Given the description of an element on the screen output the (x, y) to click on. 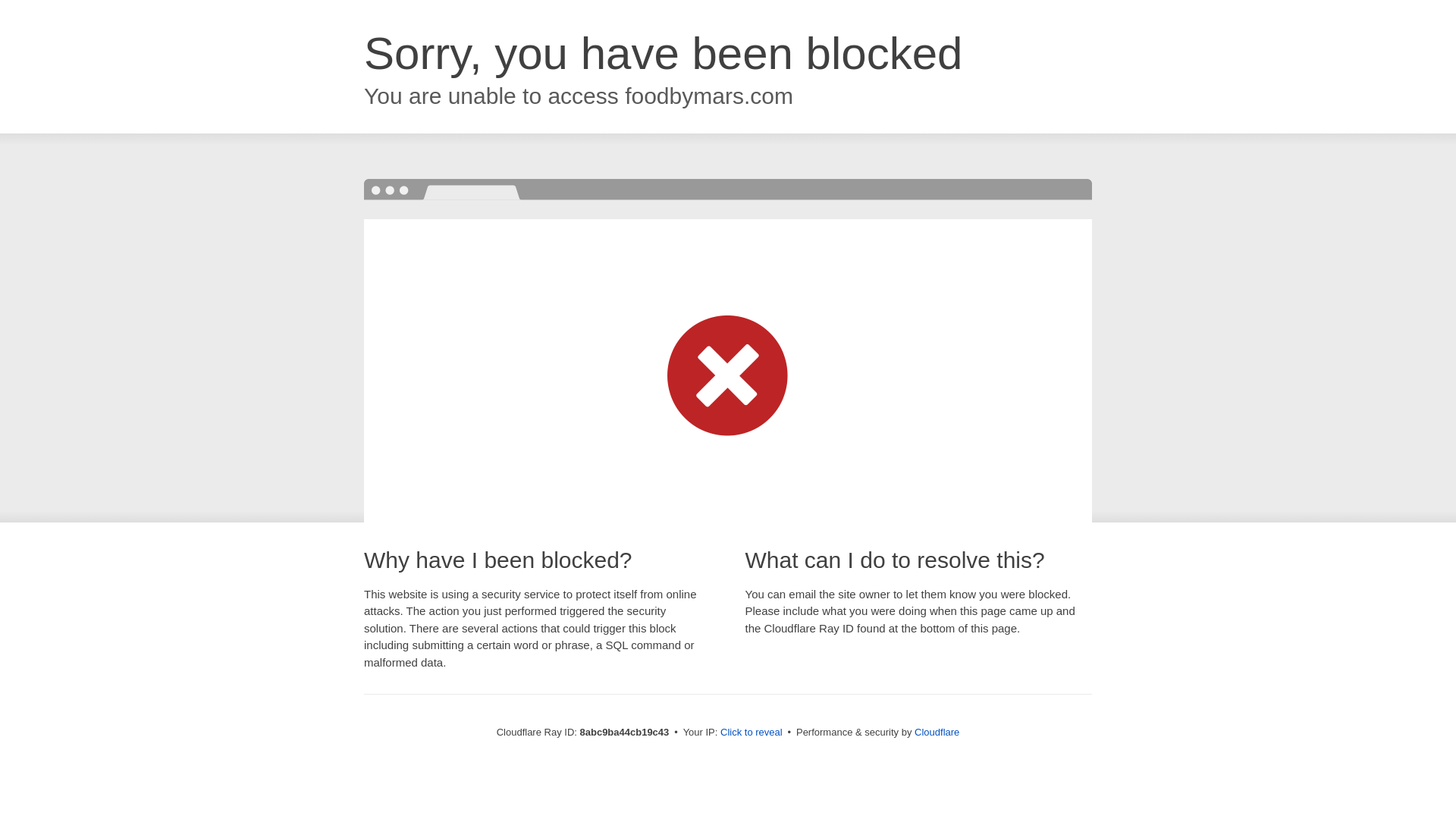
Cloudflare (936, 731)
Click to reveal (751, 732)
